Given the description of an element on the screen output the (x, y) to click on. 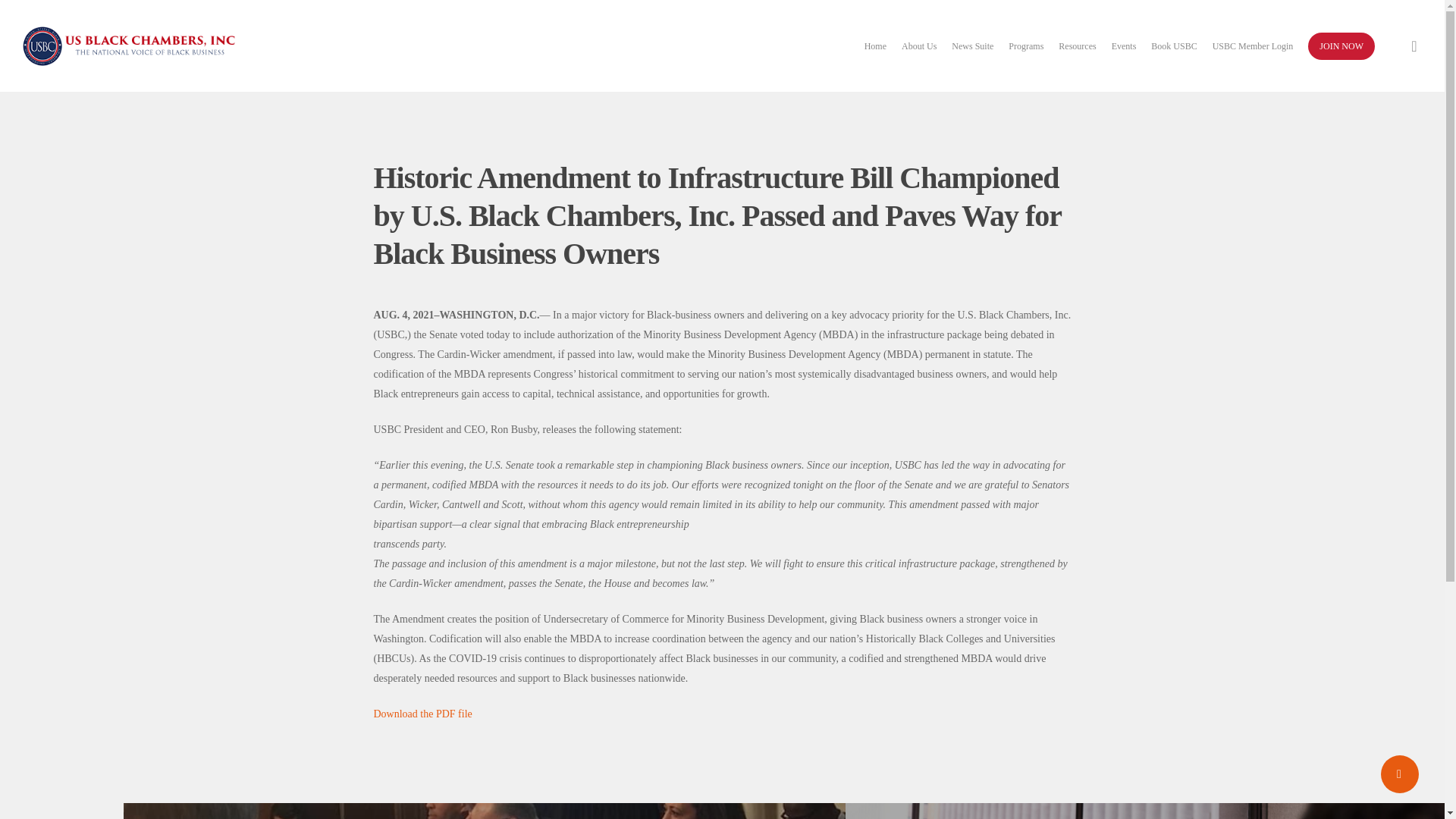
About Us (918, 45)
Programs (1026, 45)
Home (875, 45)
News Suite (972, 45)
